Given the description of an element on the screen output the (x, y) to click on. 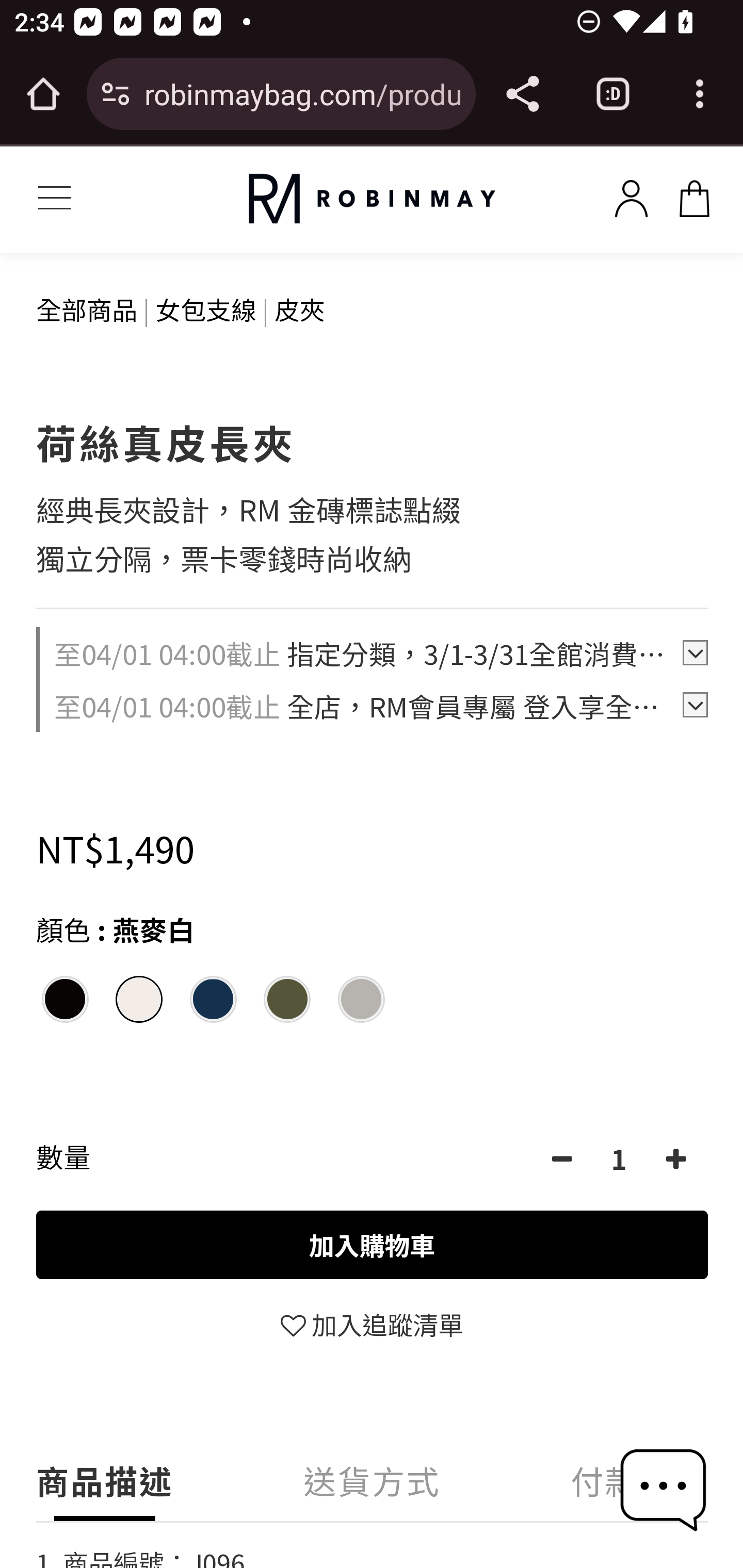
Open the home page (43, 93)
Connection is secure (115, 93)
Share (522, 93)
Switch or close tabs (612, 93)
Customize and control Google Chrome (699, 93)
original (371, 199)
x100 (631, 195)
x100 (694, 195)
全部商品 (86, 308)
女包支線 (205, 308)
皮夾 (300, 308)
 (561, 1157)
1 (618, 1157)
 (675, 1157)
加入購物車 (372, 1243)
